Given the description of an element on the screen output the (x, y) to click on. 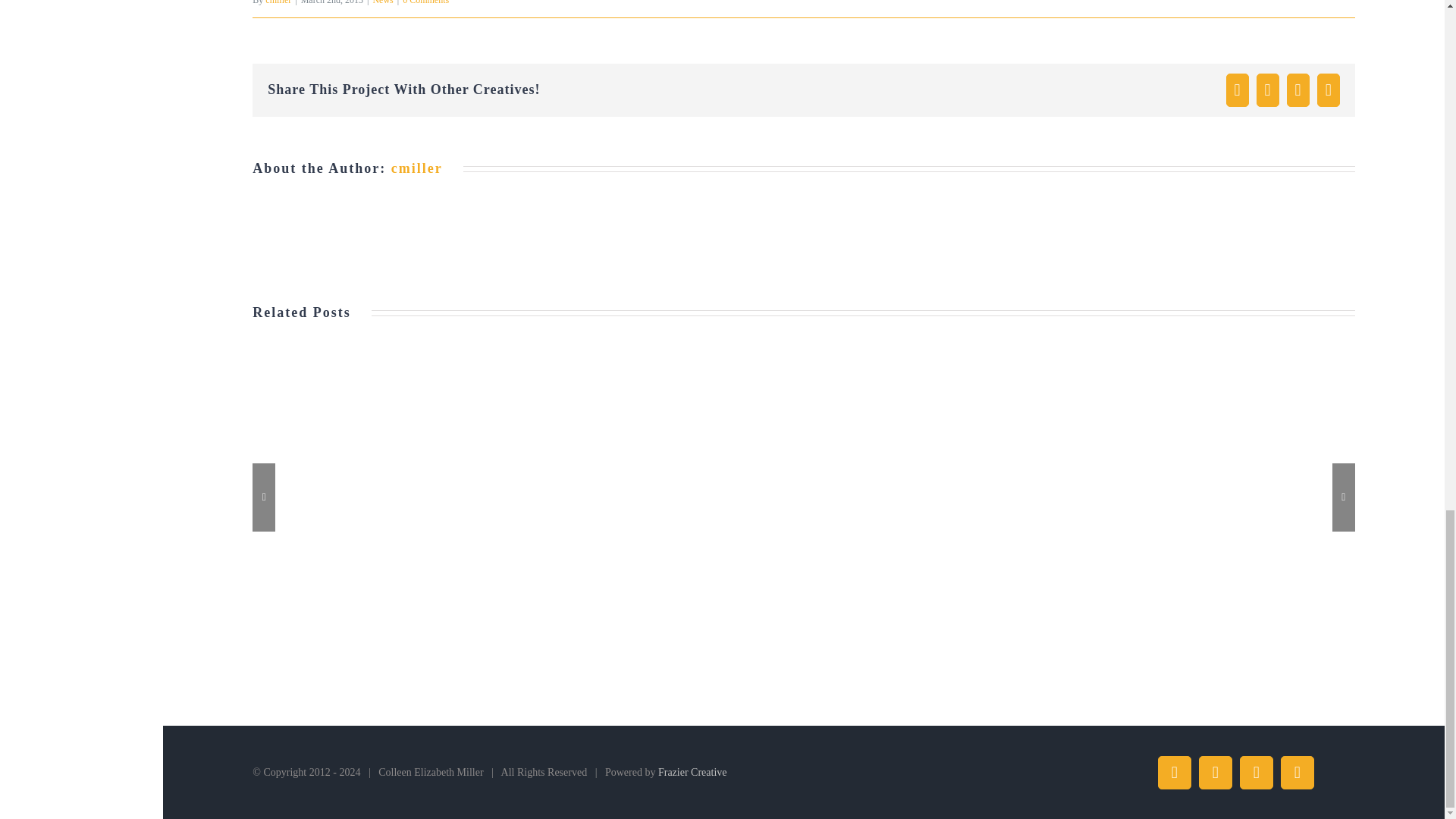
Posts by cmiller (277, 2)
Facebook (1174, 772)
YouTube (1297, 772)
Posts by cmiller (416, 168)
IMDb (1338, 758)
Instagram (1256, 772)
X (1214, 772)
